Given the description of an element on the screen output the (x, y) to click on. 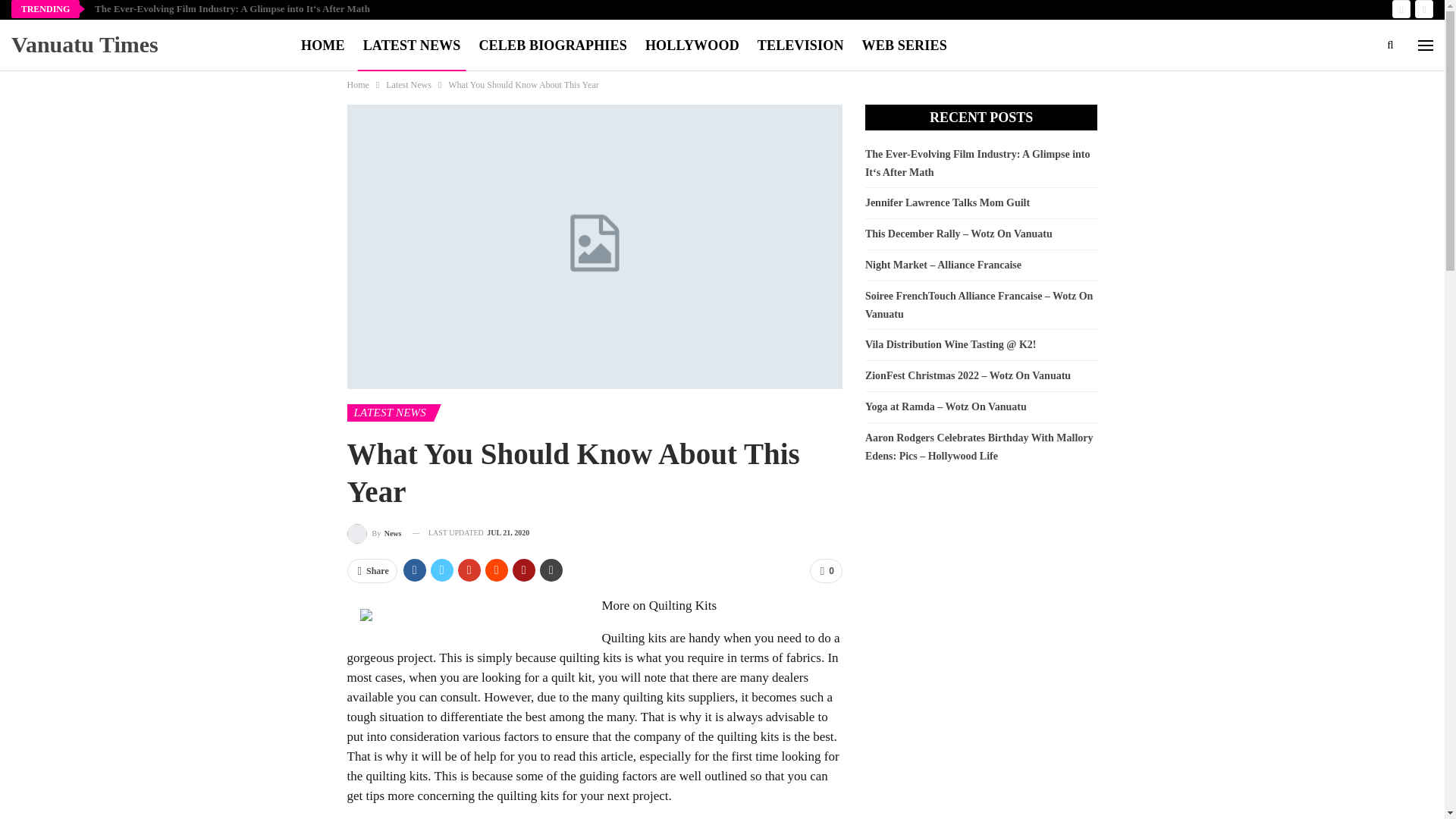
Home (358, 84)
LATEST NEWS (411, 45)
HOME (322, 45)
Vanuatu Times (88, 43)
TELEVISION (800, 45)
WEB SERIES (904, 45)
Latest News (407, 84)
By News (374, 533)
0 (826, 570)
HOLLYWOOD (692, 45)
LATEST NEWS (390, 412)
CELEB BIOGRAPHIES (552, 45)
Browse Author Articles (374, 533)
